Given the description of an element on the screen output the (x, y) to click on. 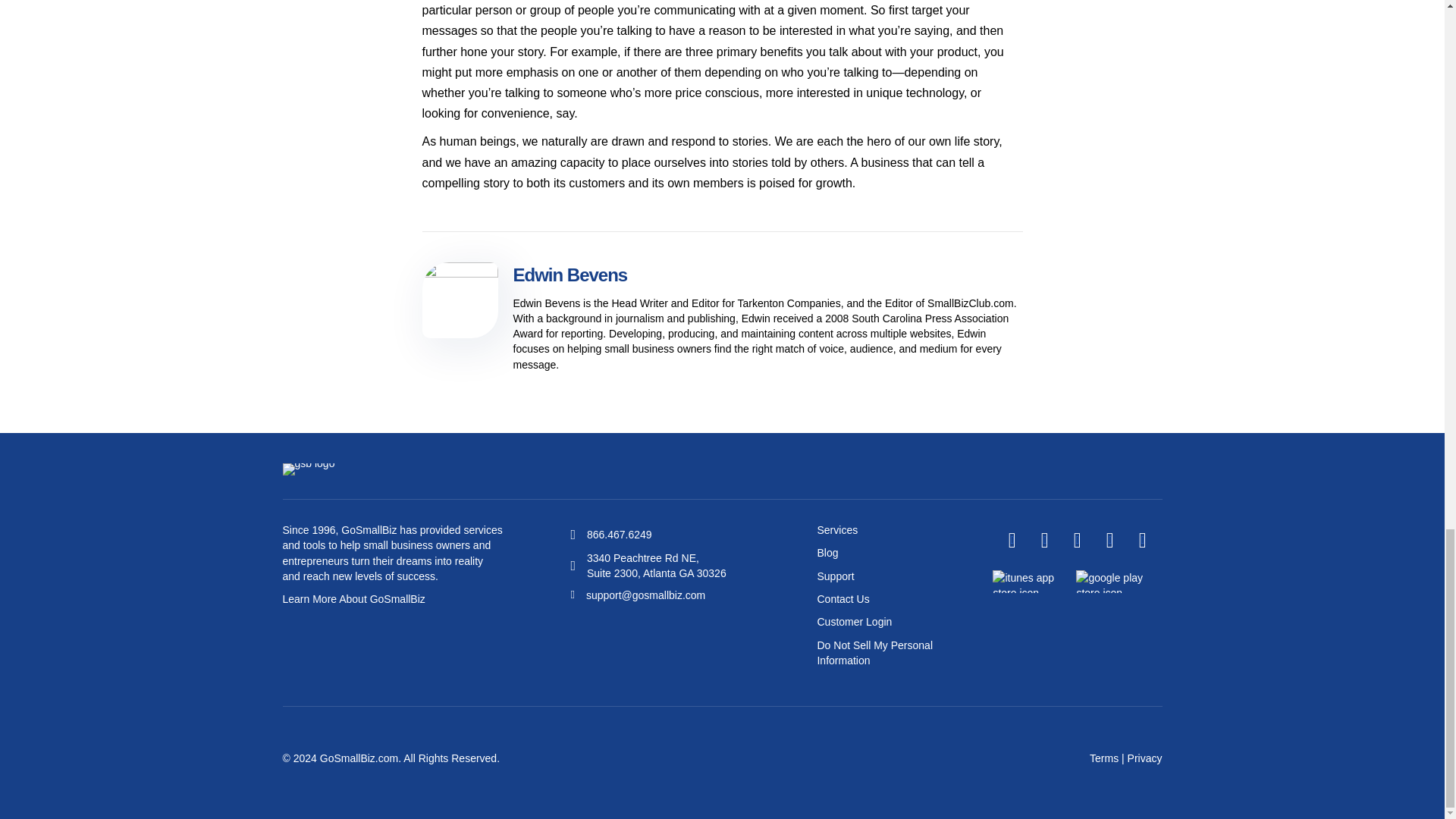
Do Not Sell My Personal Information (874, 652)
Facebook (1011, 540)
Blog (827, 552)
Contact Us (842, 598)
Terms (1103, 758)
Group 3 (308, 469)
Linkedin (1077, 540)
Youtube (1109, 540)
Twitter (1044, 540)
866.467.6249 (619, 534)
Privacy (1143, 758)
Services (836, 530)
Learn More About GoSmallBiz (353, 598)
Support (834, 576)
Email (1142, 540)
